Given the description of an element on the screen output the (x, y) to click on. 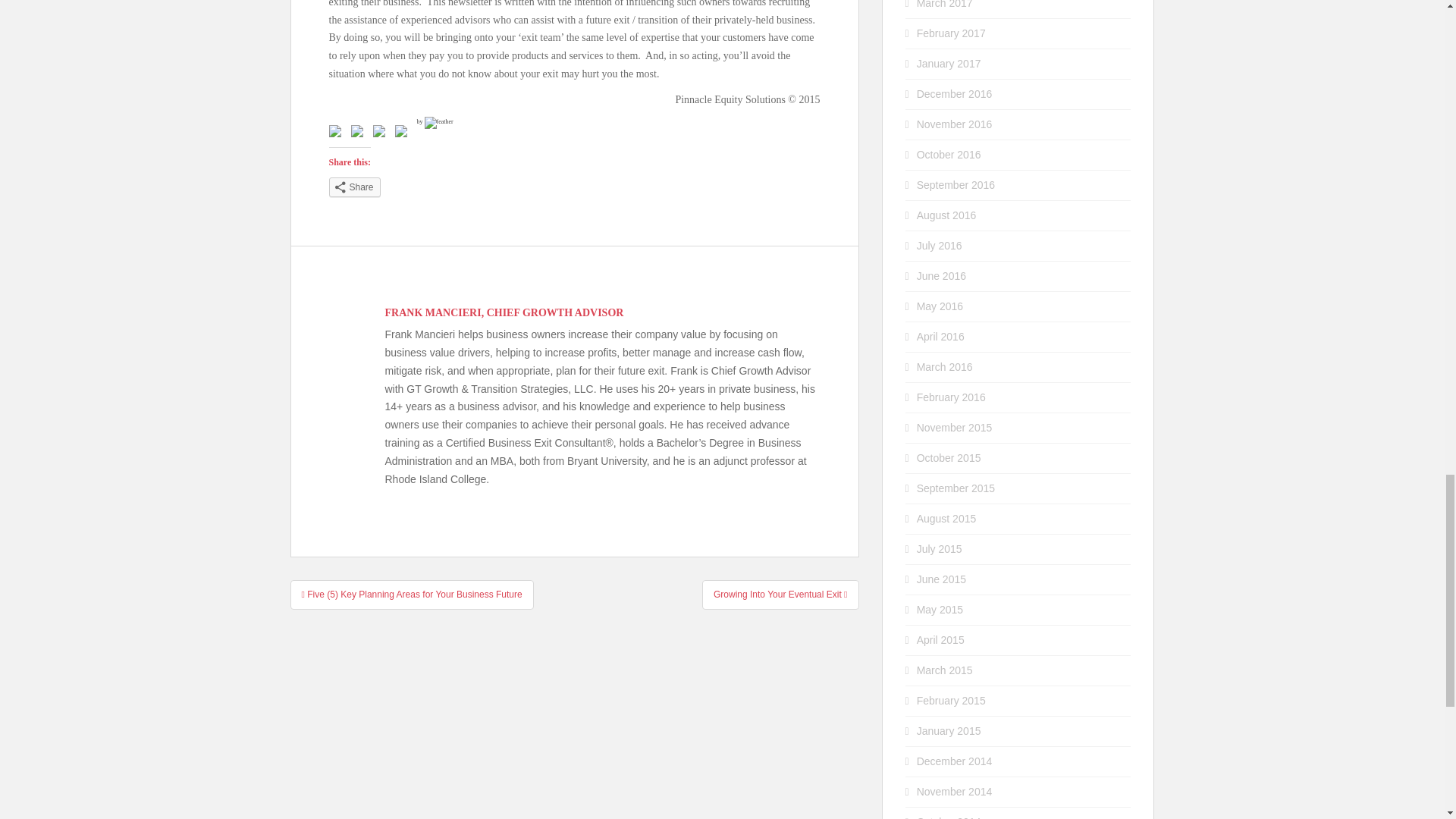
FRANK MANCIERI, CHIEF GROWTH ADVISOR (504, 312)
Email Me (400, 131)
Like gtGROWTH (334, 131)
Like gtGROWTH (338, 134)
by (434, 121)
Add gtGROWTH (381, 134)
Growing Into Your Eventual Exit (780, 594)
Email Me (403, 134)
Add gtGROWTH (378, 131)
Follow gtGROWTH (359, 134)
Follow gtGROWTH (356, 131)
Share (354, 187)
